Given the description of an element on the screen output the (x, y) to click on. 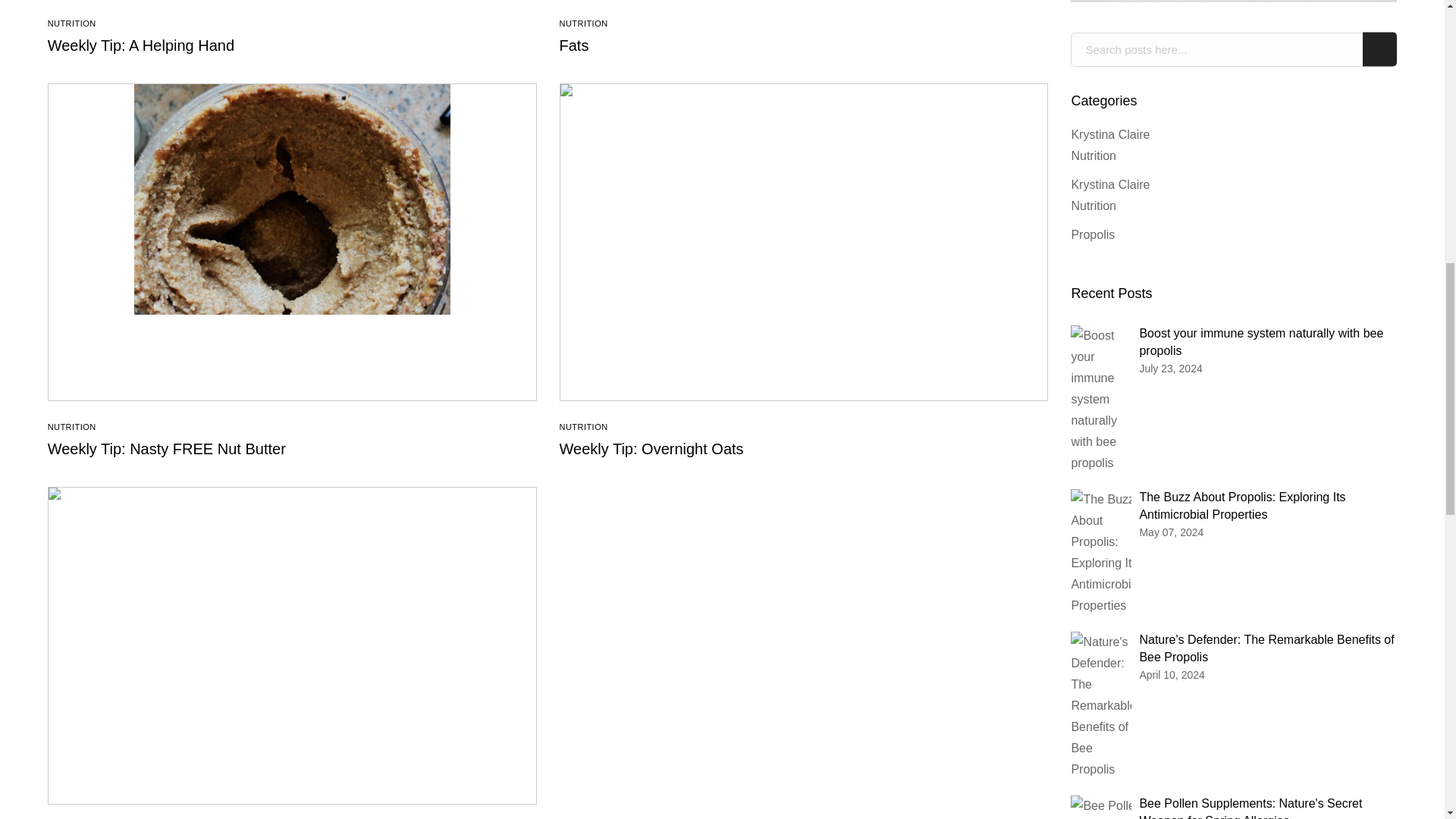
NUTRITION (583, 23)
Weekly Tip: A Helping Hand (141, 45)
Fats (574, 45)
Nutrition (72, 23)
Nutrition (72, 426)
NUTRITION (72, 23)
Nutrition (583, 23)
NUTRITION (72, 426)
